Given the description of an element on the screen output the (x, y) to click on. 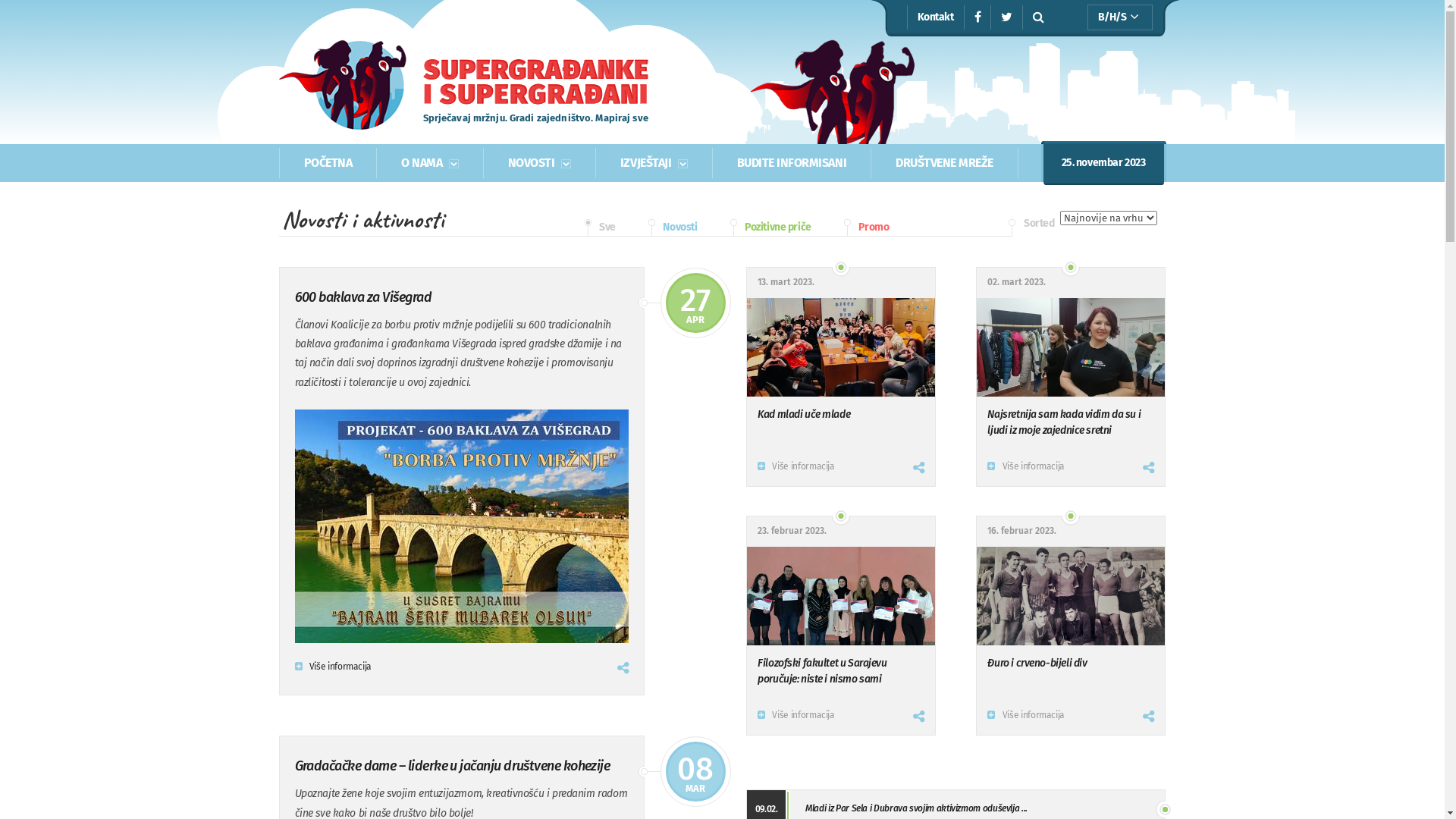
Kontakt Element type: text (934, 17)
Promo Element type: text (866, 227)
Novosti Element type: text (672, 227)
Sve Element type: text (599, 227)
BUDITE INFORMISANI Element type: text (791, 162)
B/H/S Element type: text (1123, 17)
